Given the description of an element on the screen output the (x, y) to click on. 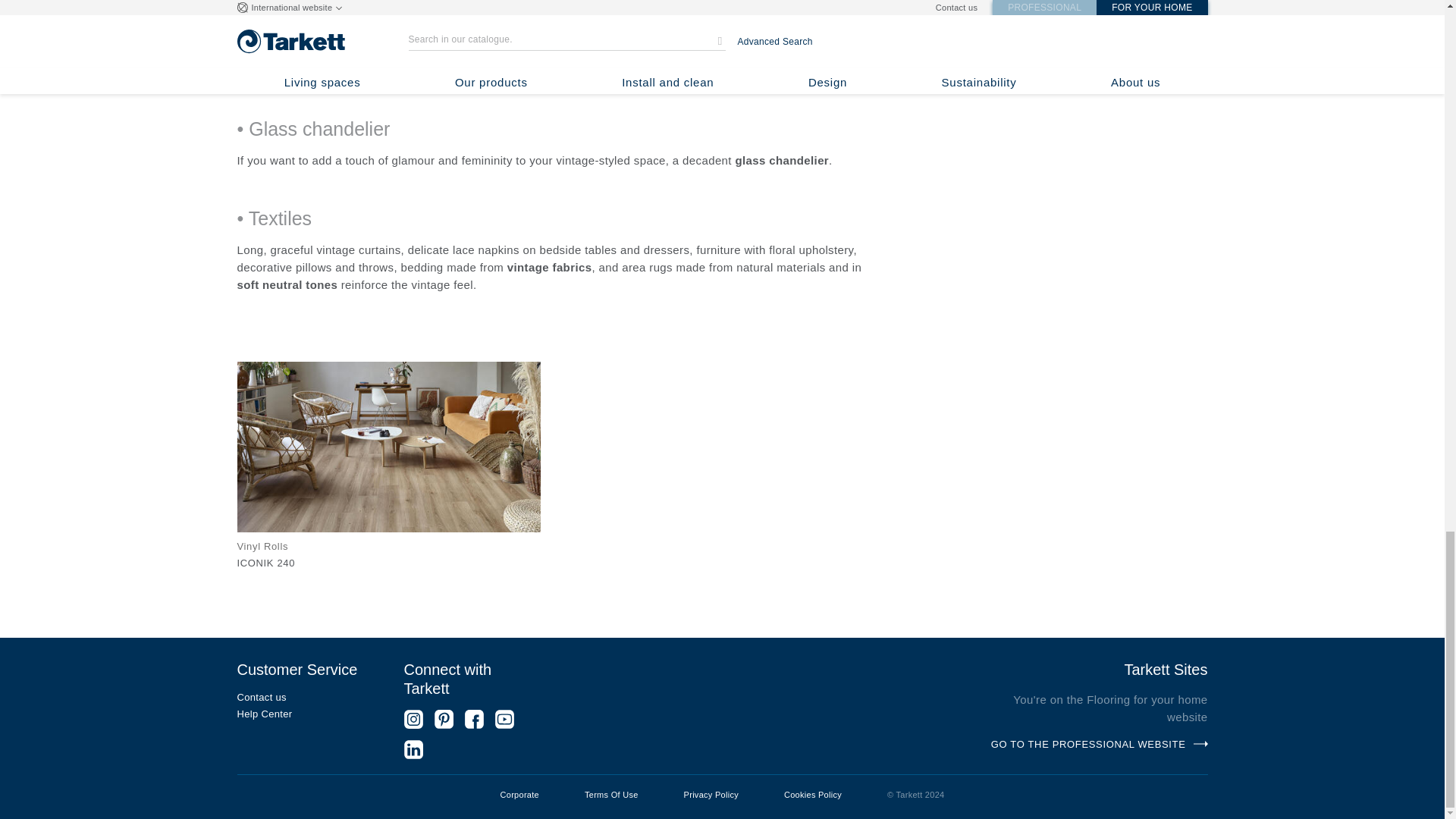
Become fan on Facebook (473, 719)
Follow us on YouTube (504, 719)
Corporate (519, 796)
Follow us on Instagram! (412, 719)
Go to our Pinterest Page! (442, 719)
GO TO THE PROFESSIONAL WEBSITE (1099, 744)
ICONIK 240 (265, 562)
Follow us on Linkedin! (412, 749)
Contact us (303, 697)
Help Center (303, 713)
